Given the description of an element on the screen output the (x, y) to click on. 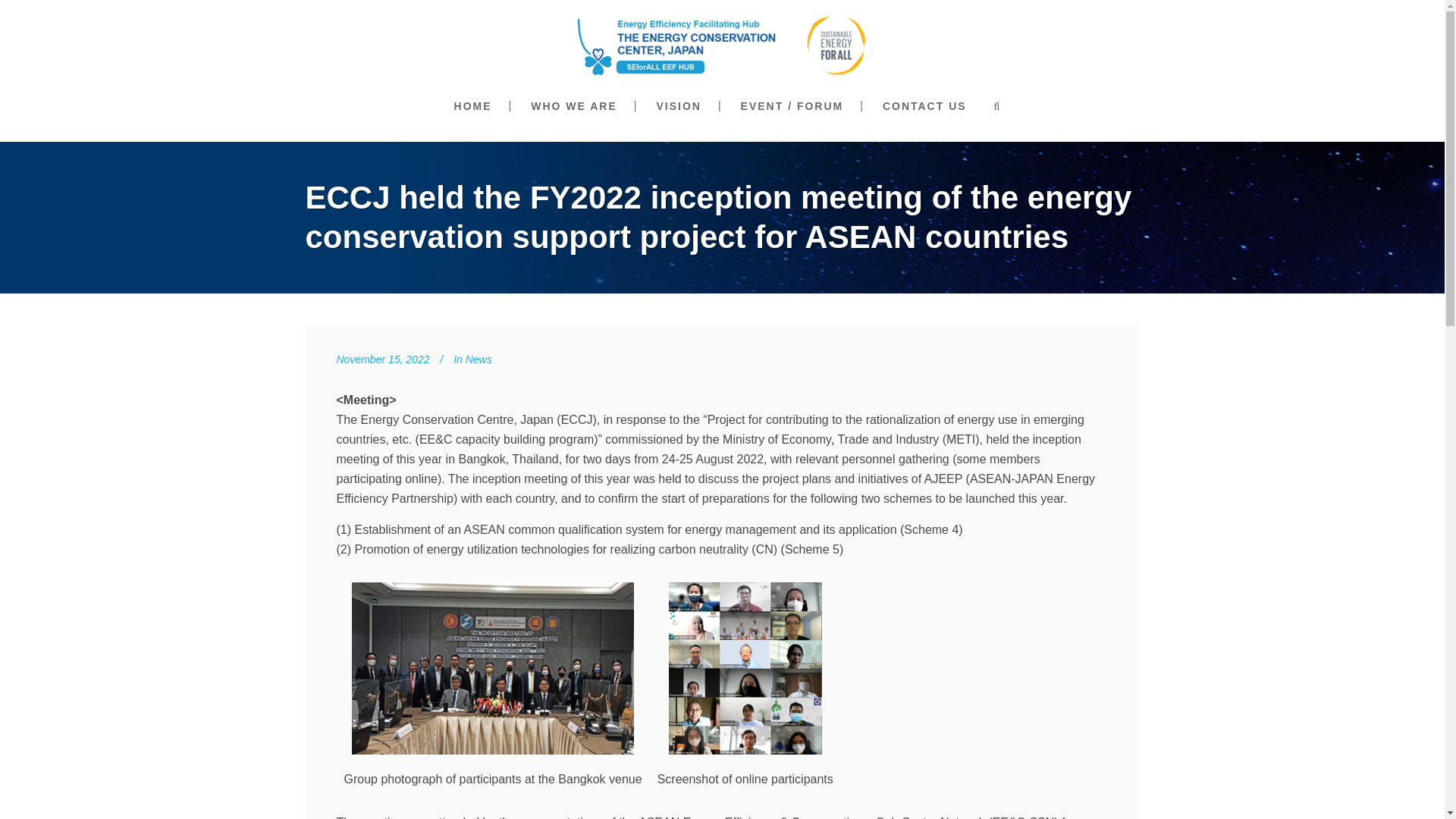
HOME (473, 106)
WHO WE ARE (573, 106)
VISION (678, 106)
